Given the description of an element on the screen output the (x, y) to click on. 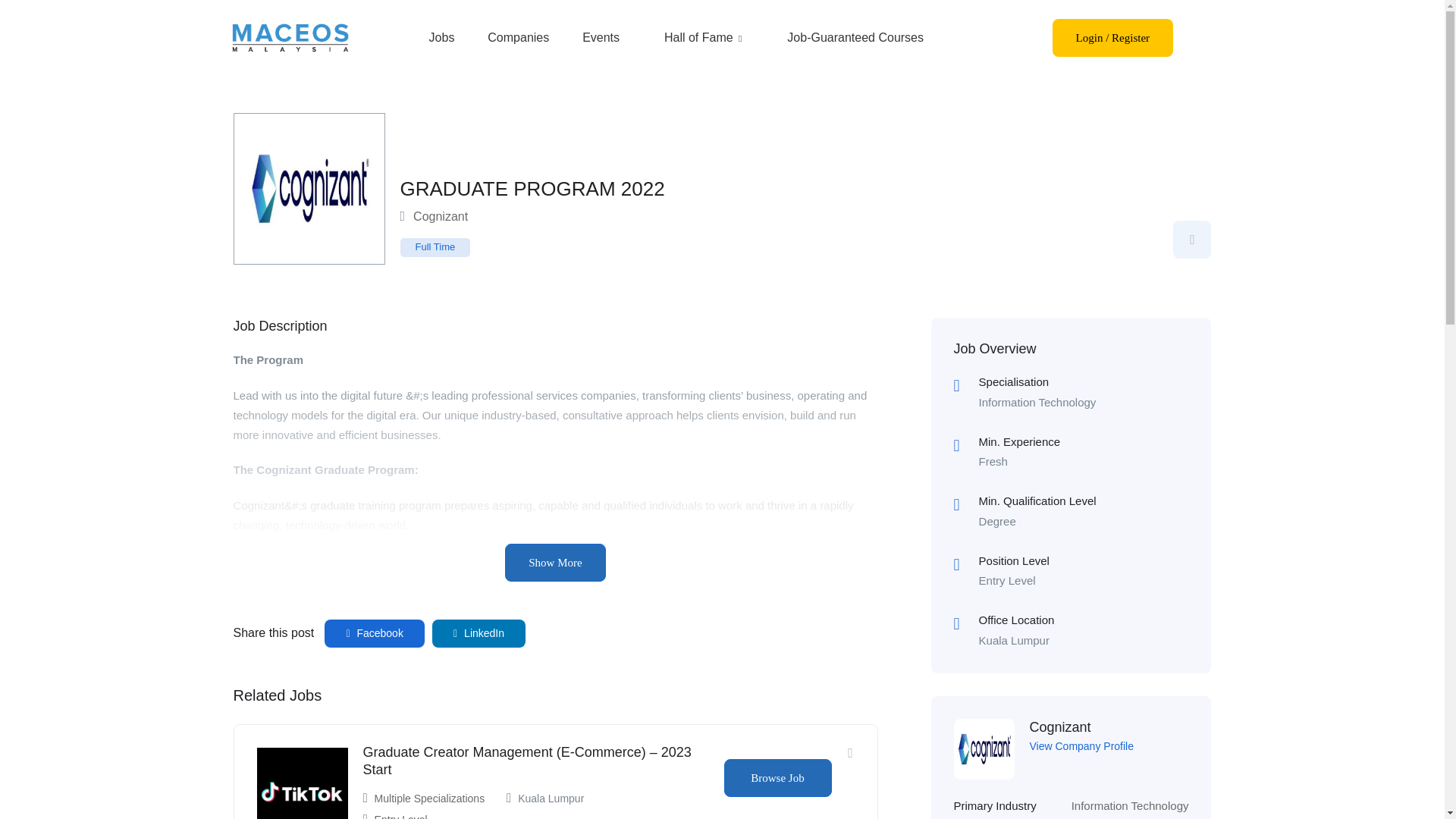
Events (601, 37)
Job-Guaranteed Courses (854, 37)
Hall of Fame (703, 37)
Jobs (442, 37)
Companies (518, 37)
